Given the description of an element on the screen output the (x, y) to click on. 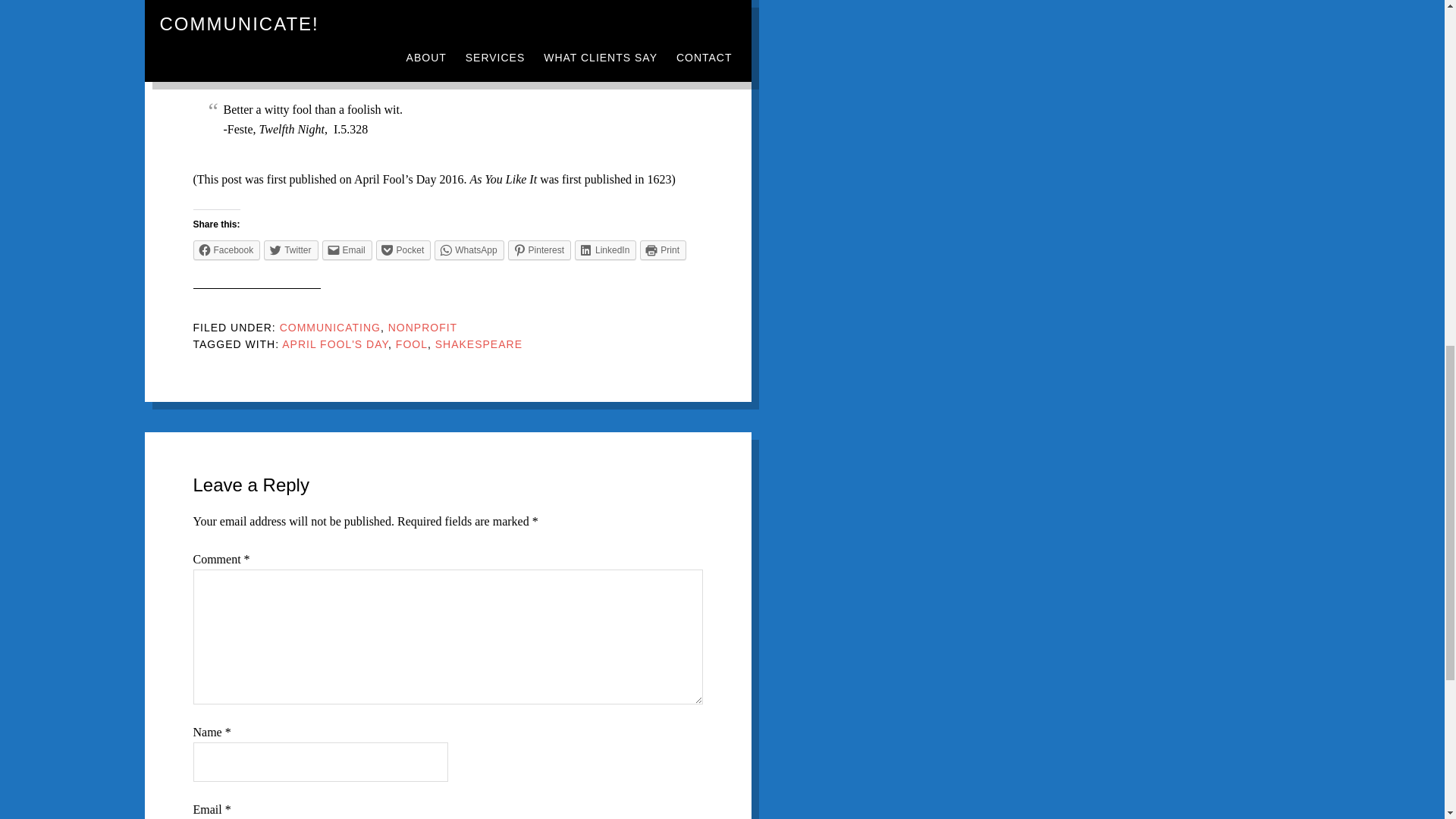
APRIL FOOL'S DAY (335, 344)
Click to share on Pinterest (539, 250)
Click to share on Pocket (402, 250)
Click to share on Twitter (290, 250)
Facebook (226, 250)
Print (662, 250)
Click to print (662, 250)
SHAKESPEARE (478, 344)
WhatsApp (468, 250)
Click to email a link to a friend (346, 250)
Click to share on Facebook (226, 250)
Pinterest (539, 250)
Email (346, 250)
Twitter (290, 250)
Click to share on WhatsApp (468, 250)
